Given the description of an element on the screen output the (x, y) to click on. 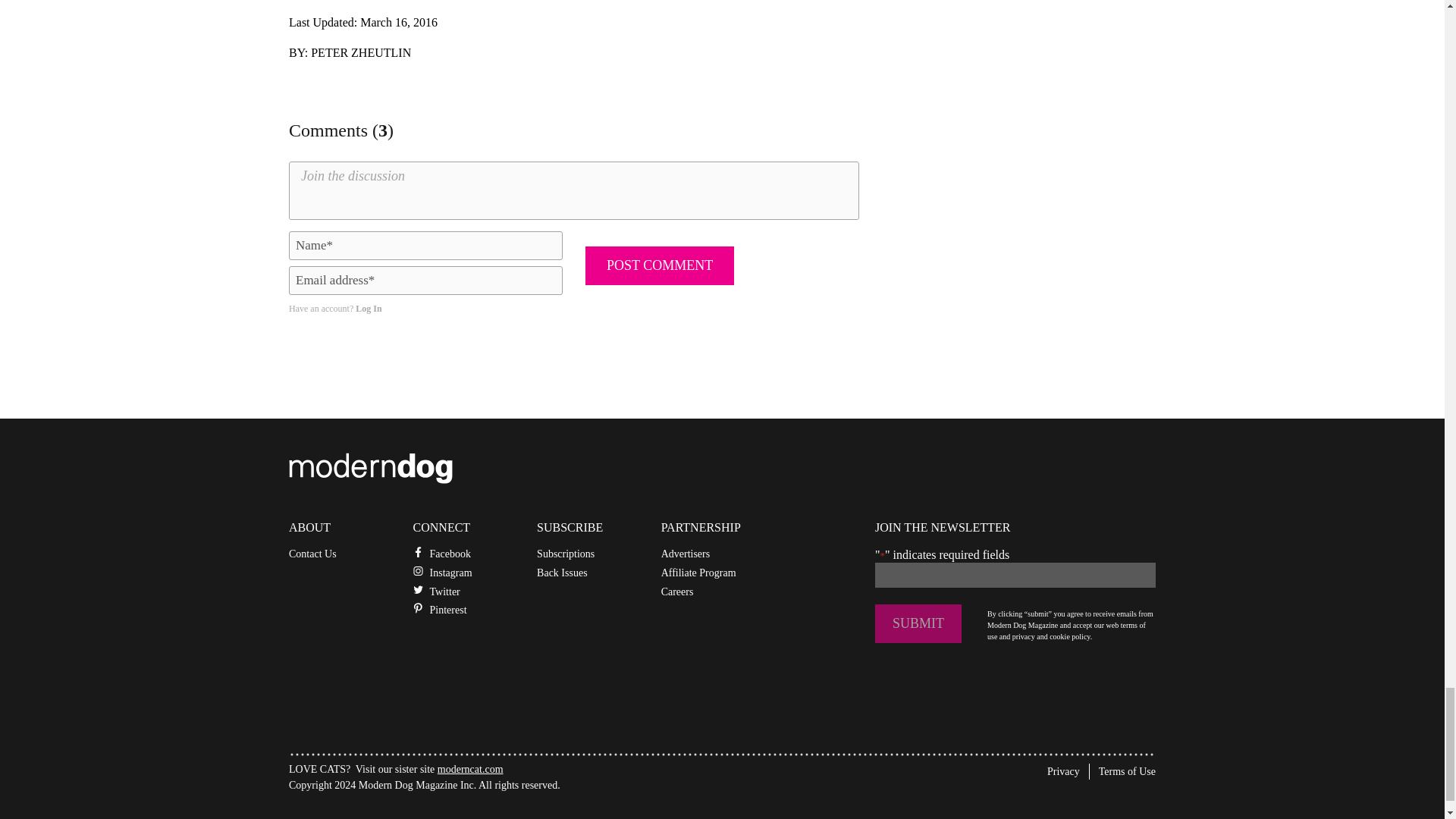
Funded by the Government of Canada (402, 815)
Submit (917, 623)
